Given the description of an element on the screen output the (x, y) to click on. 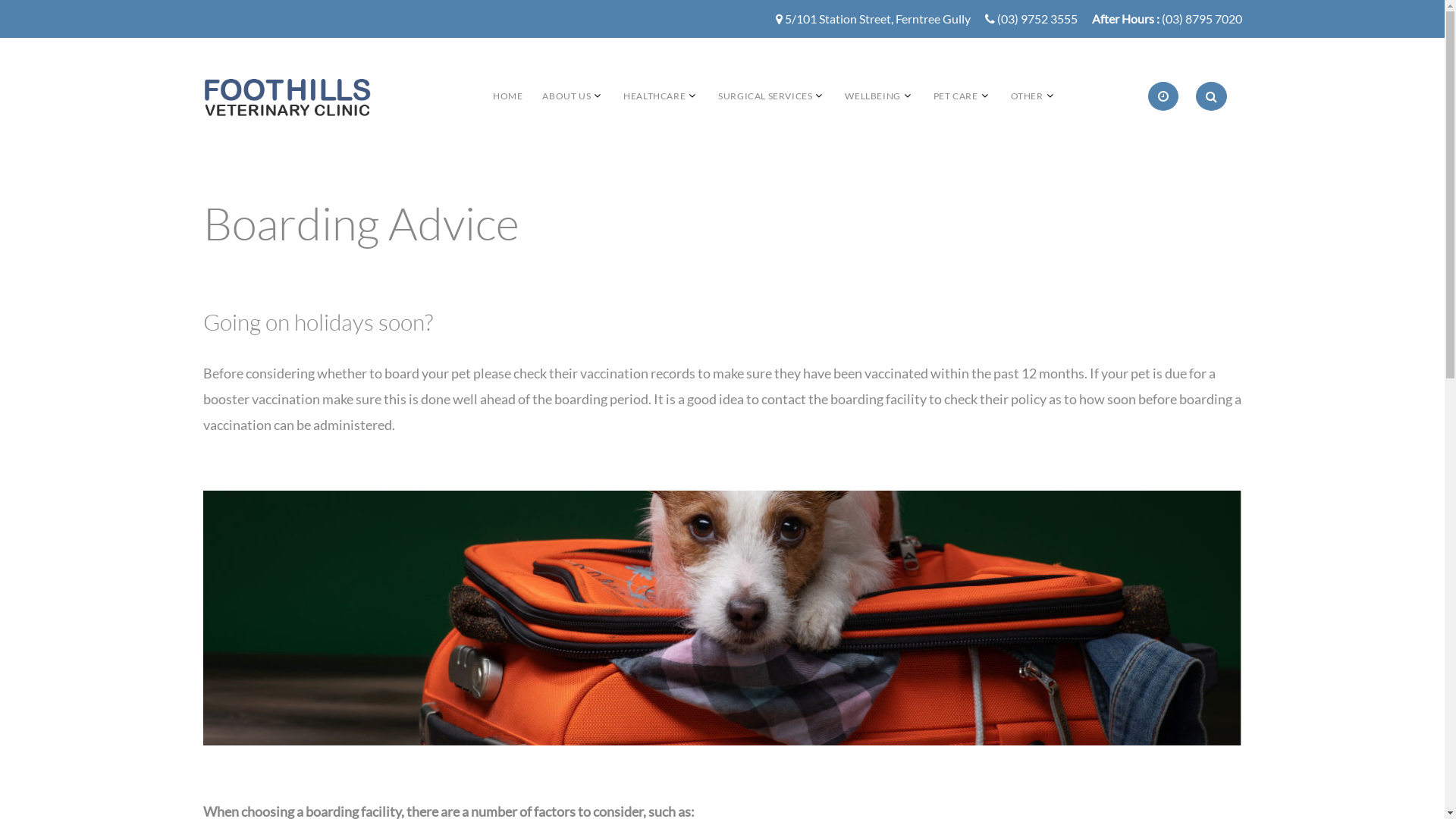
HEALTHCARE Element type: text (654, 95)
ABOUT US Element type: text (566, 95)
(03) 8795 7020 Element type: text (1201, 19)
PET CARE Element type: text (955, 95)
SURGICAL SERVICES Element type: text (765, 95)
OTHER Element type: text (1026, 95)
HOME Element type: text (507, 95)
(03) 9752 3555 Element type: text (1036, 19)
WELLBEING Element type: text (872, 95)
